Given the description of an element on the screen output the (x, y) to click on. 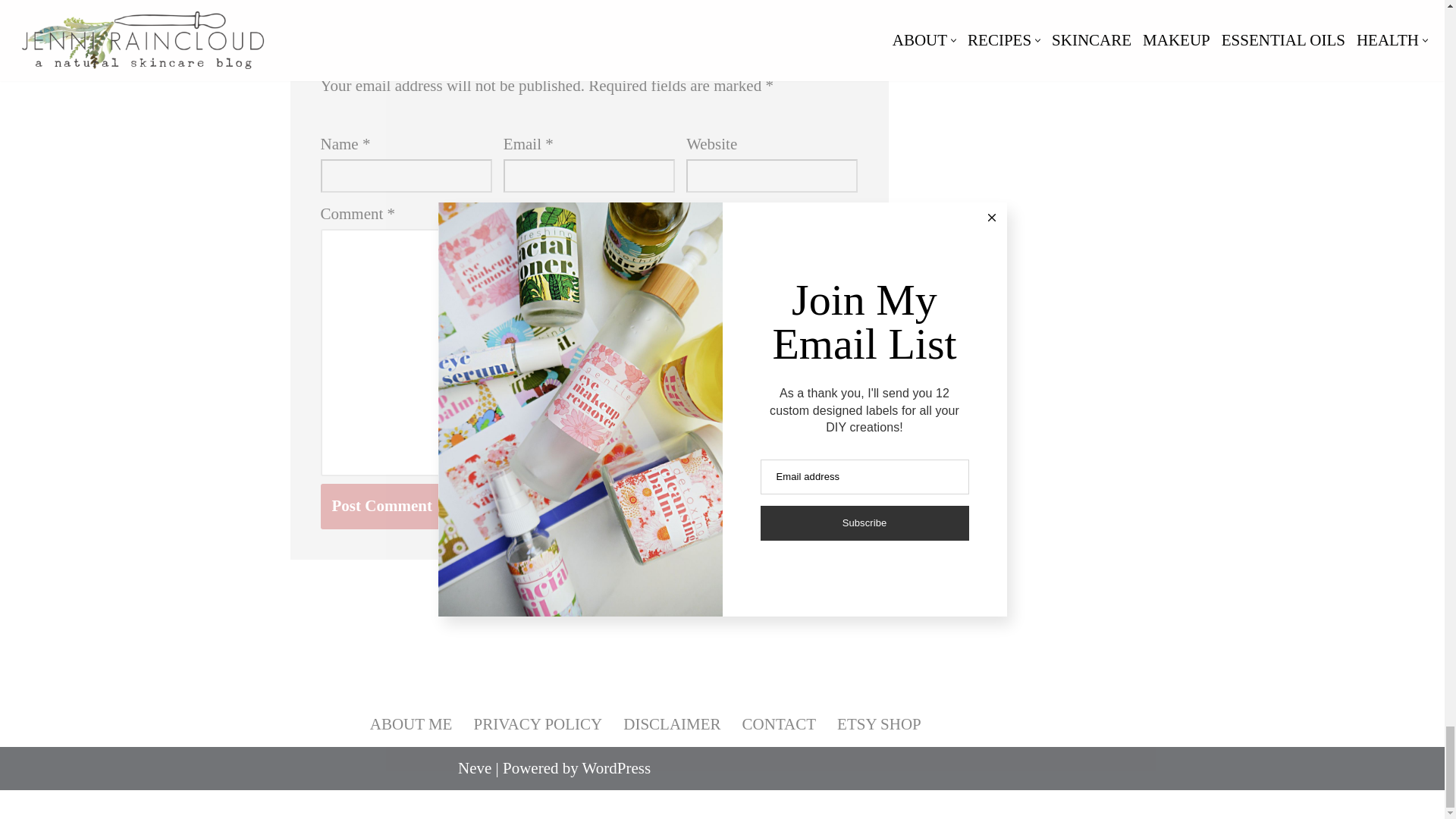
Post Comment (381, 506)
